Given the description of an element on the screen output the (x, y) to click on. 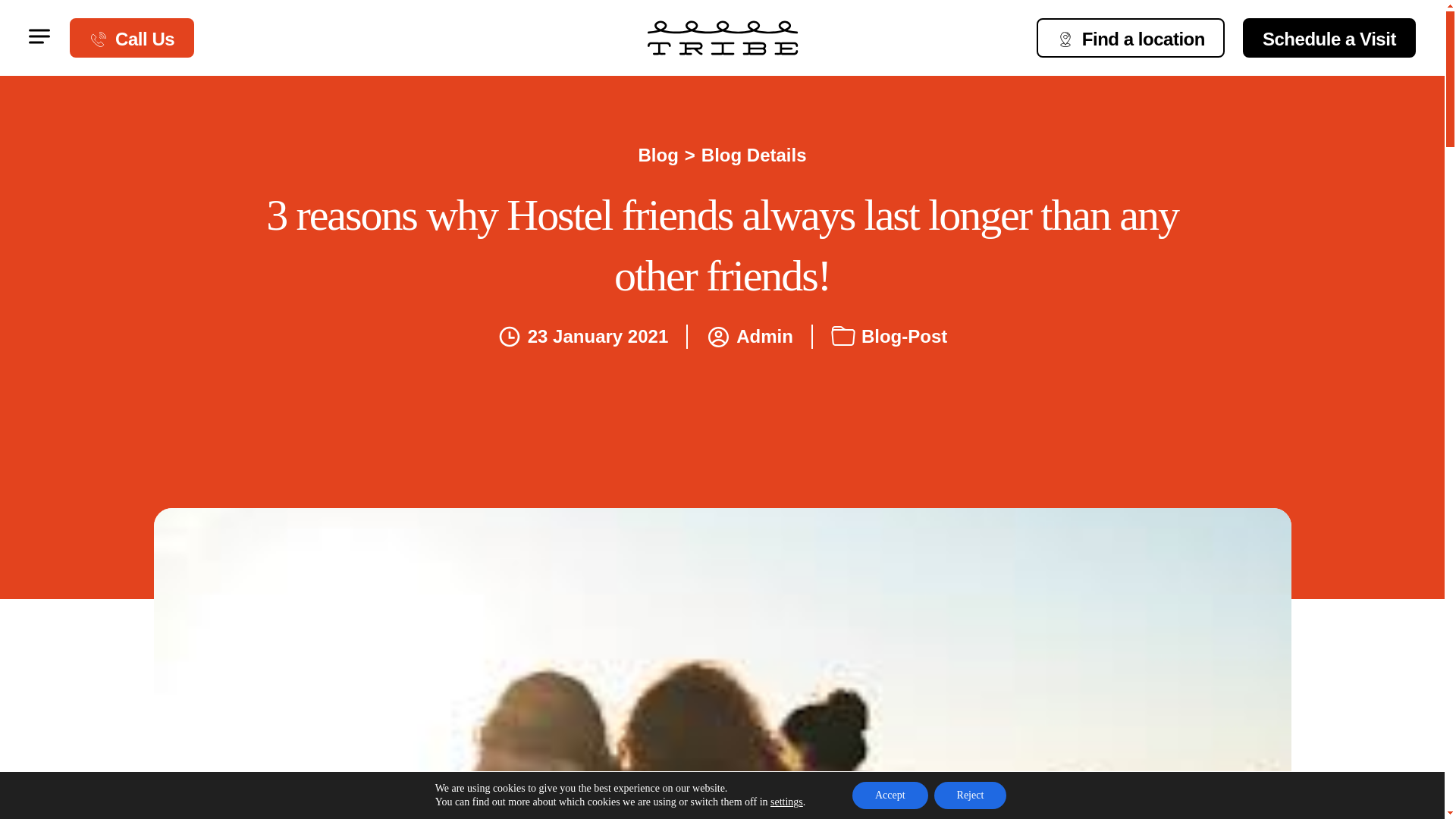
Find a location (1130, 37)
Call Us (131, 37)
Schedule a Visit (1329, 37)
